Given the description of an element on the screen output the (x, y) to click on. 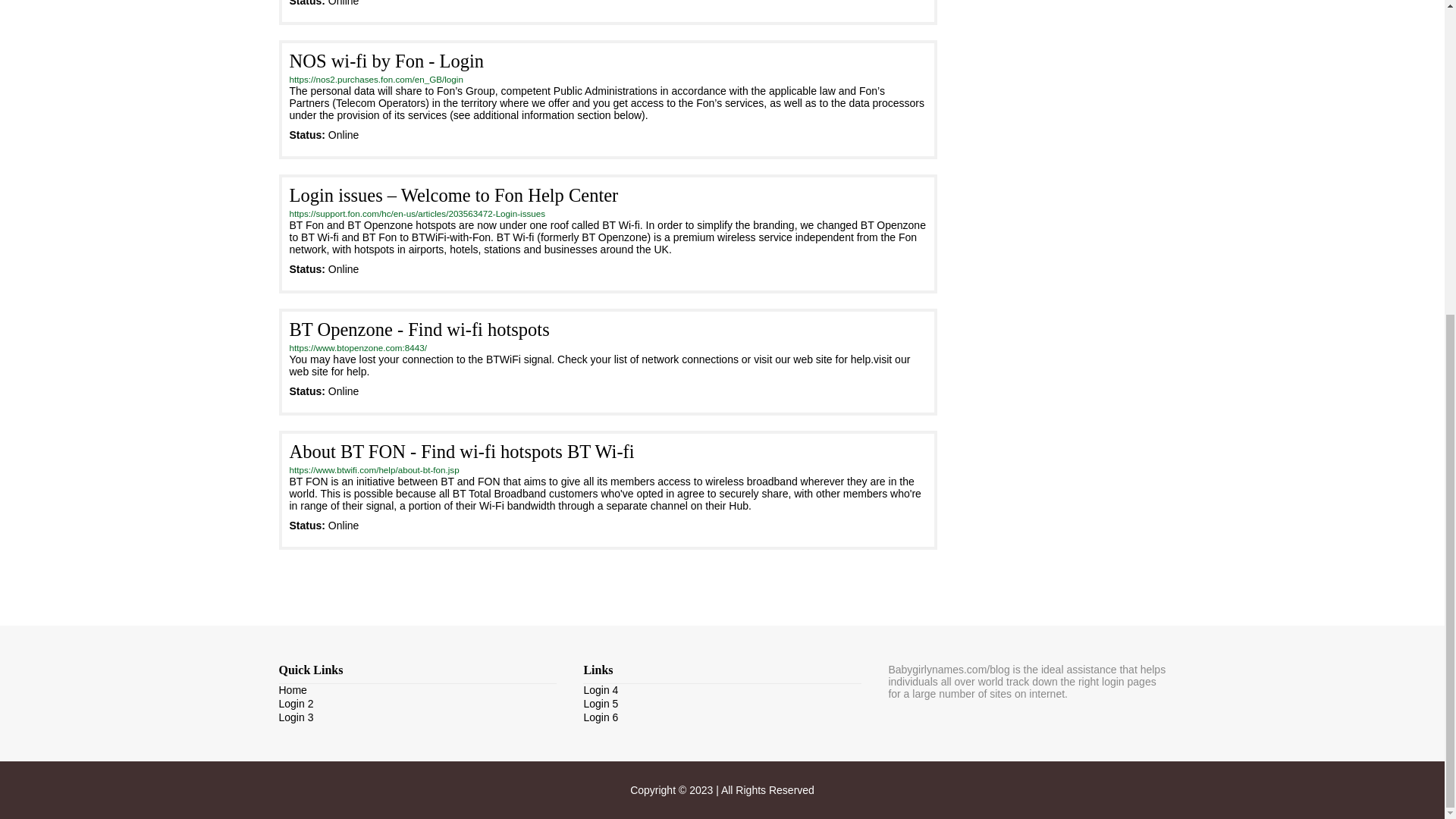
Login 2 (296, 703)
Login 4 (600, 689)
Home (293, 689)
Login 5 (600, 703)
Login 3 (296, 717)
Login 6 (600, 717)
